Given the description of an element on the screen output the (x, y) to click on. 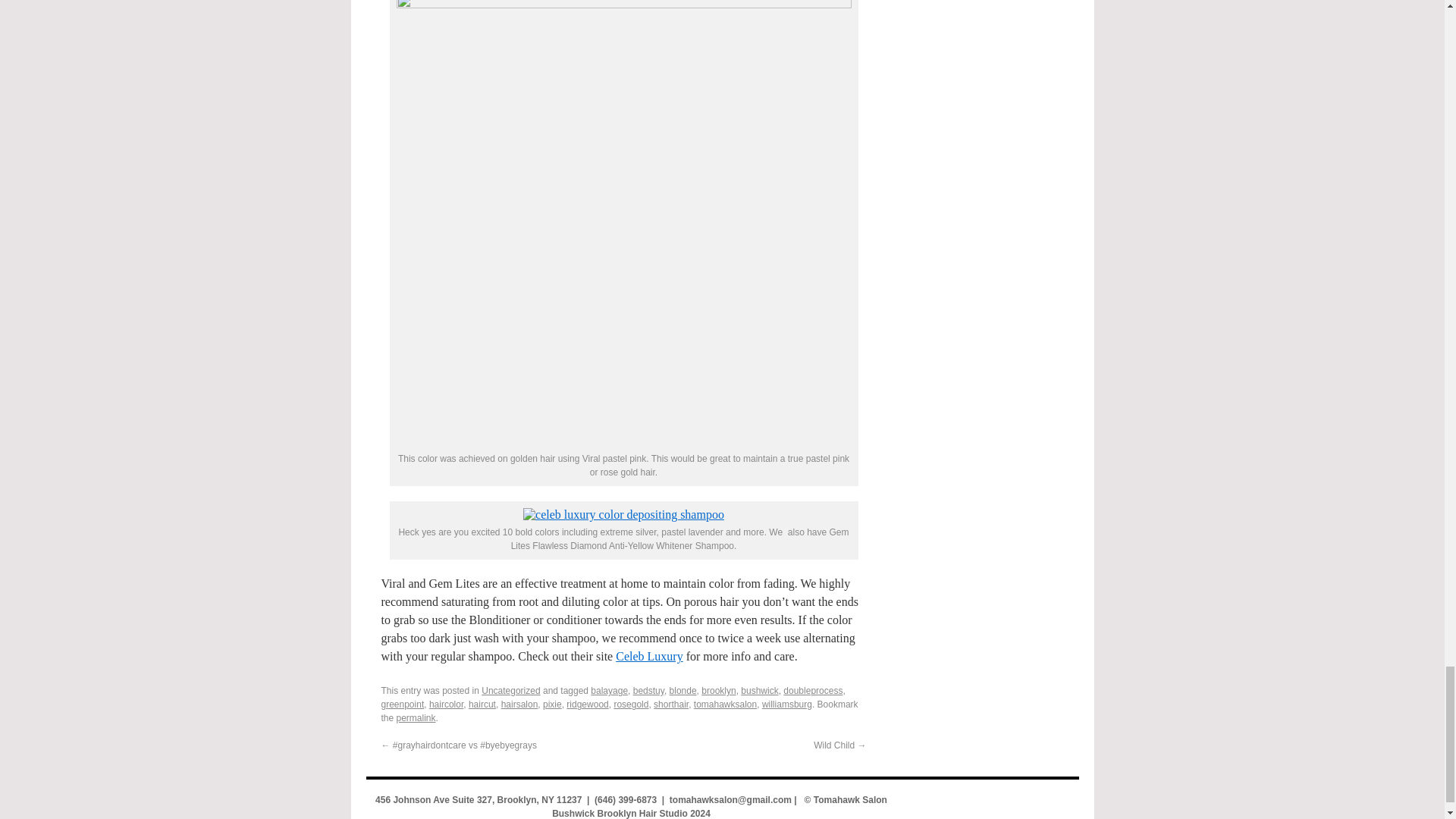
blonde (683, 690)
bushwick (759, 690)
williamsburg (786, 704)
greenpoint (401, 704)
tomahawksalon (725, 704)
rosegold (629, 704)
doubleprocess (813, 690)
balayage (609, 690)
haircut (482, 704)
brooklyn (718, 690)
pixie (552, 704)
haircolor (446, 704)
hairsalon (519, 704)
ridgewood (587, 704)
Celeb Luxury (648, 656)
